Given the description of an element on the screen output the (x, y) to click on. 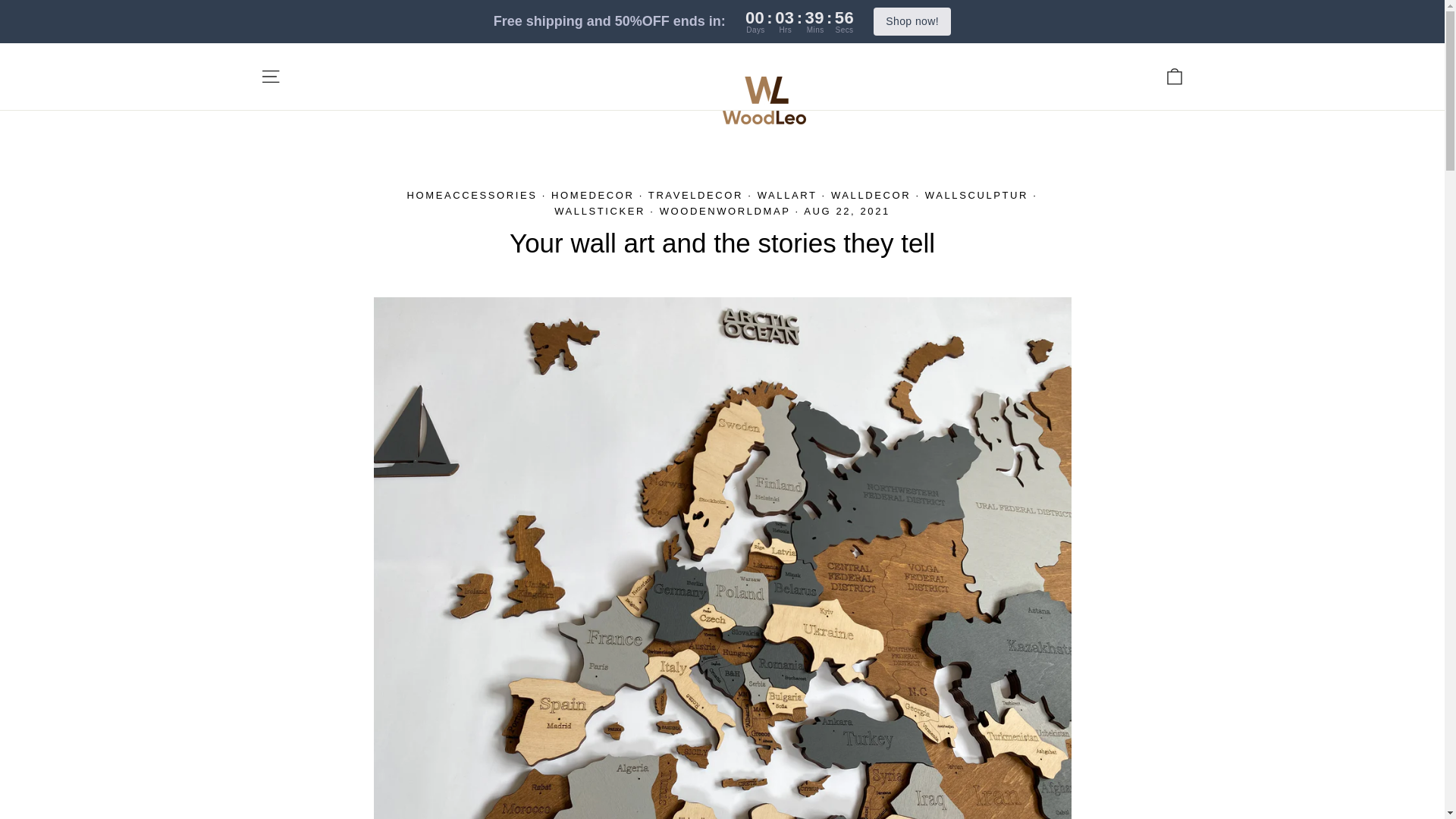
icon-hamburger (269, 76)
Shop now! (270, 76)
WALLSTICKER (911, 21)
TRAVELDECOR (599, 211)
WALLDECOR (694, 194)
icon-bag-minimal (871, 194)
WALLART (1174, 76)
WOODENWORLDMAP (1173, 76)
